Given the description of an element on the screen output the (x, y) to click on. 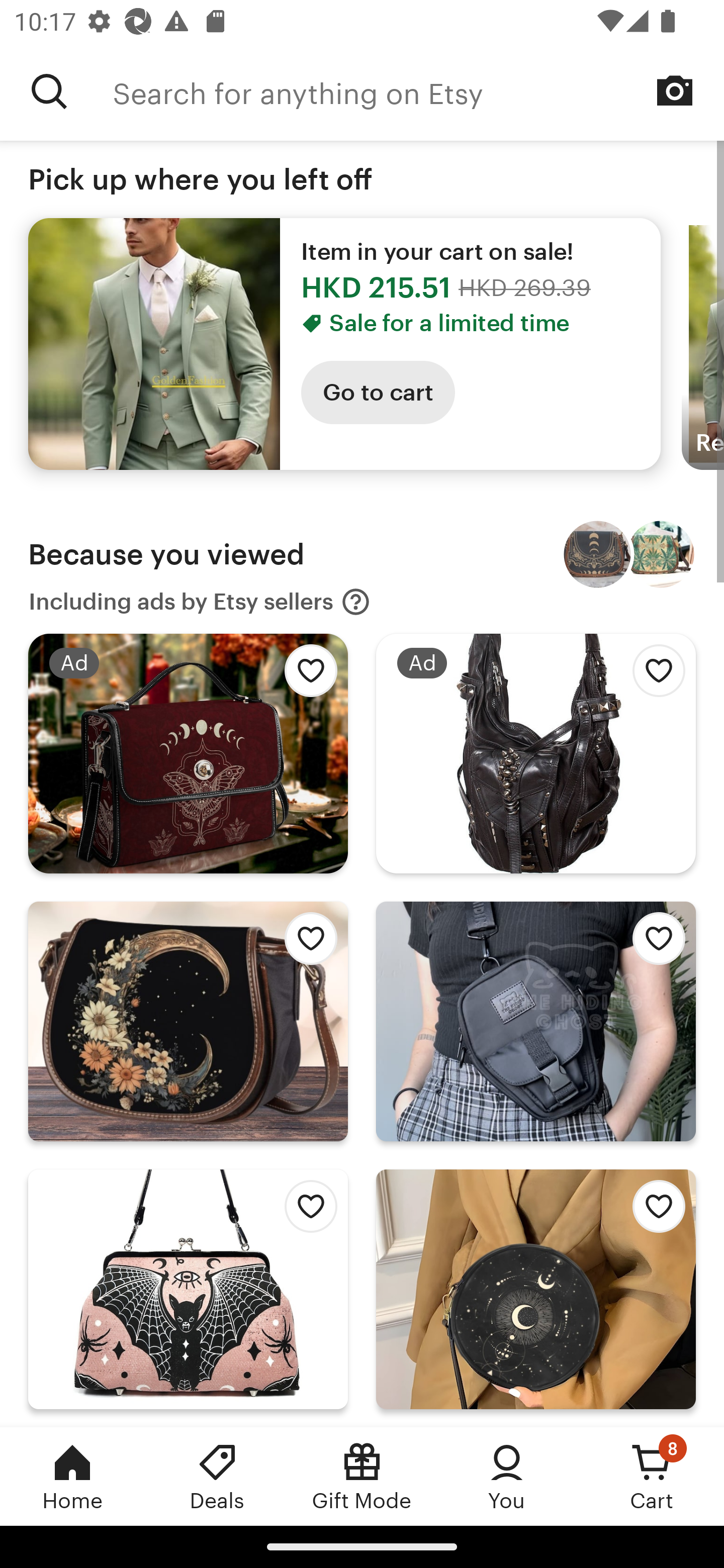
Search for anything on Etsy (49, 91)
Search by image (674, 90)
Search for anything on Etsy (418, 91)
Including ads by Etsy sellers (199, 601)
Deals (216, 1475)
Gift Mode (361, 1475)
You (506, 1475)
Cart, 8 new notifications Cart (651, 1475)
